Given the description of an element on the screen output the (x, y) to click on. 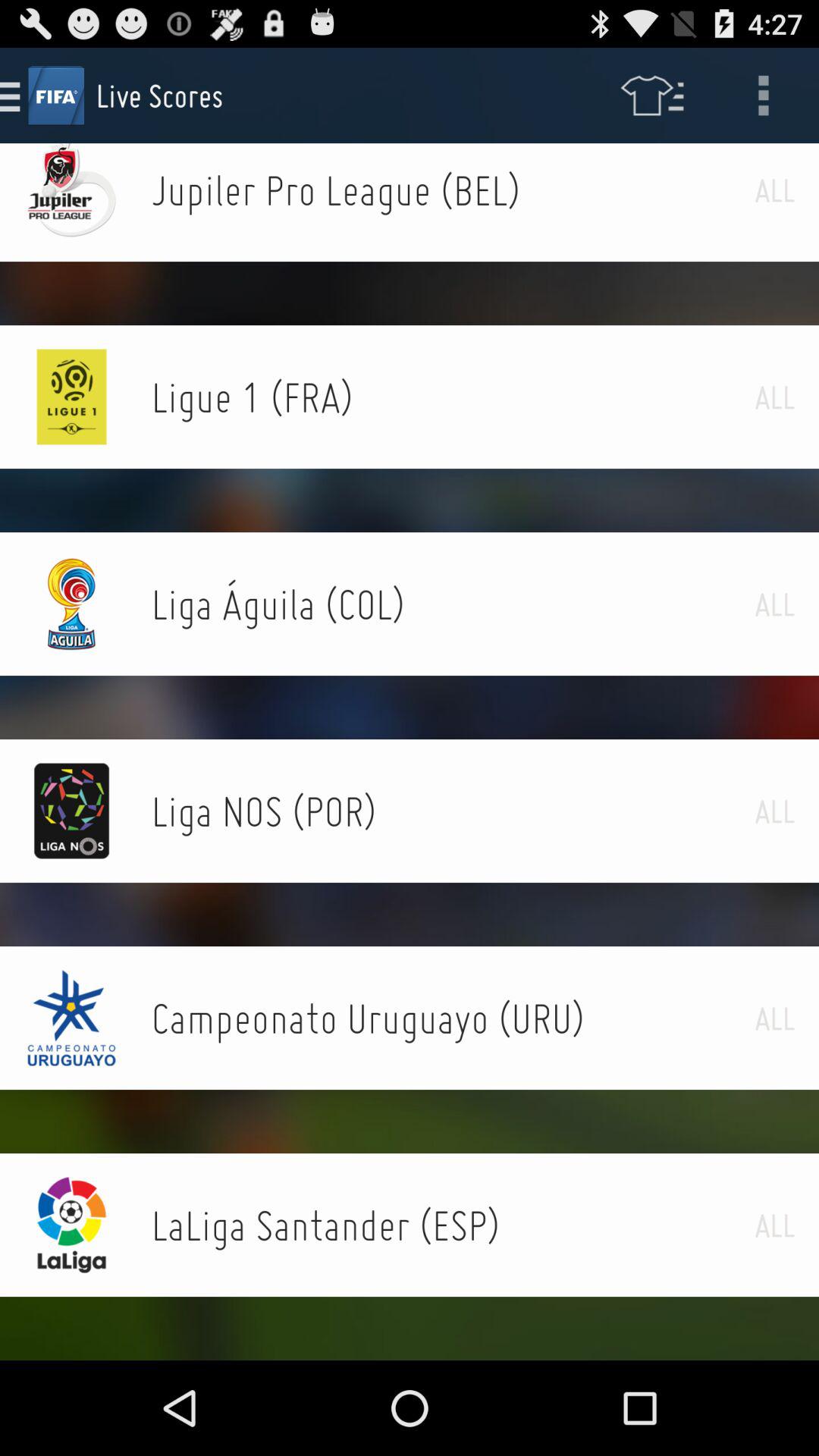
jump to campeonato uruguayo (uru) icon (452, 1017)
